Given the description of an element on the screen output the (x, y) to click on. 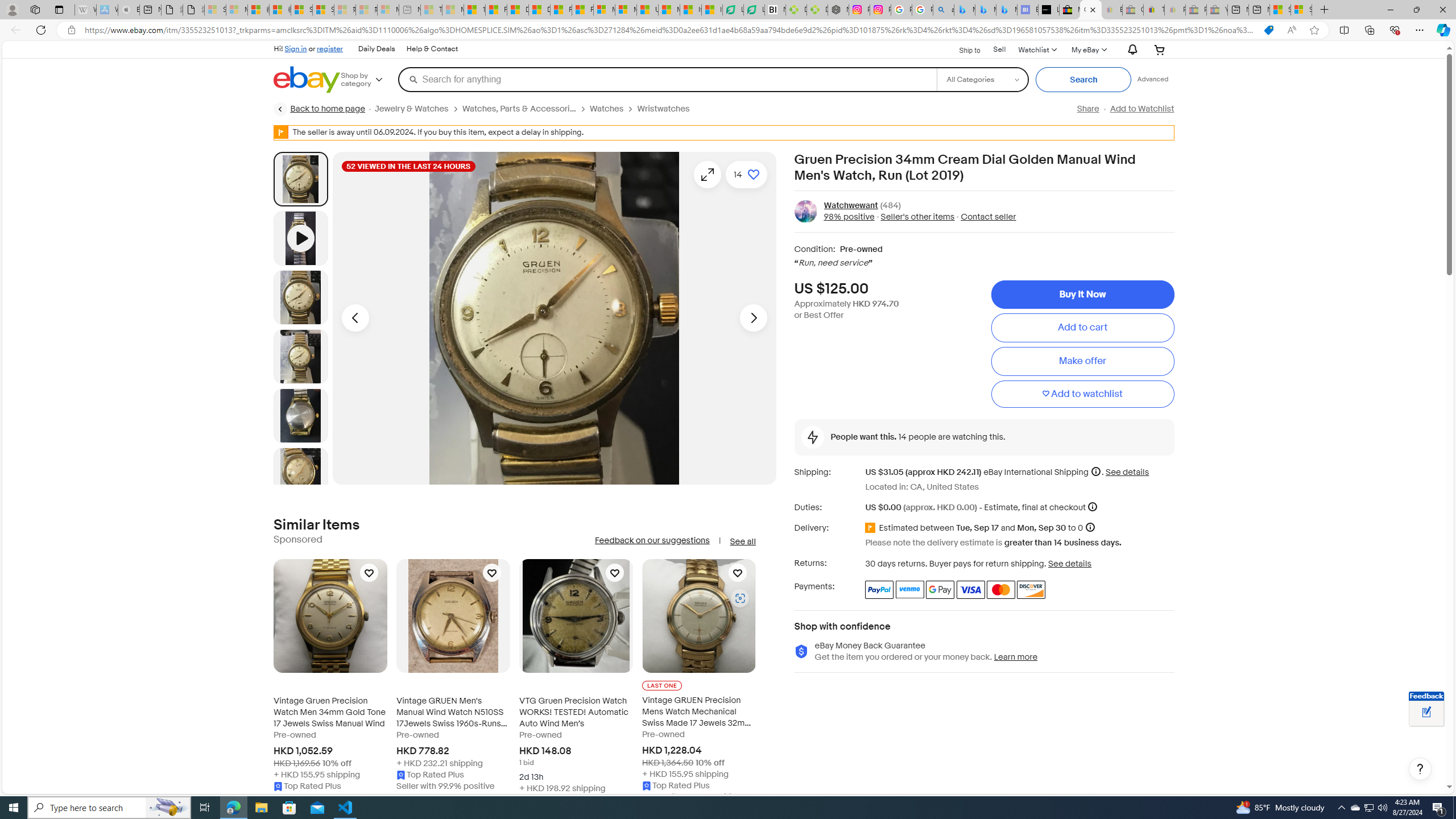
Video 1 of 1 (300, 238)
Ship to (962, 50)
My eBayExpand My eBay (1088, 49)
Shop by category (368, 79)
98% positive (849, 216)
Sign in to your Microsoft account (1300, 9)
Sign in (295, 48)
Buy It Now (1082, 294)
Food and Drink - MSN (496, 9)
Top Stories - MSN - Sleeping (431, 9)
Wikipedia - Sleeping (85, 9)
